Given the description of an element on the screen output the (x, y) to click on. 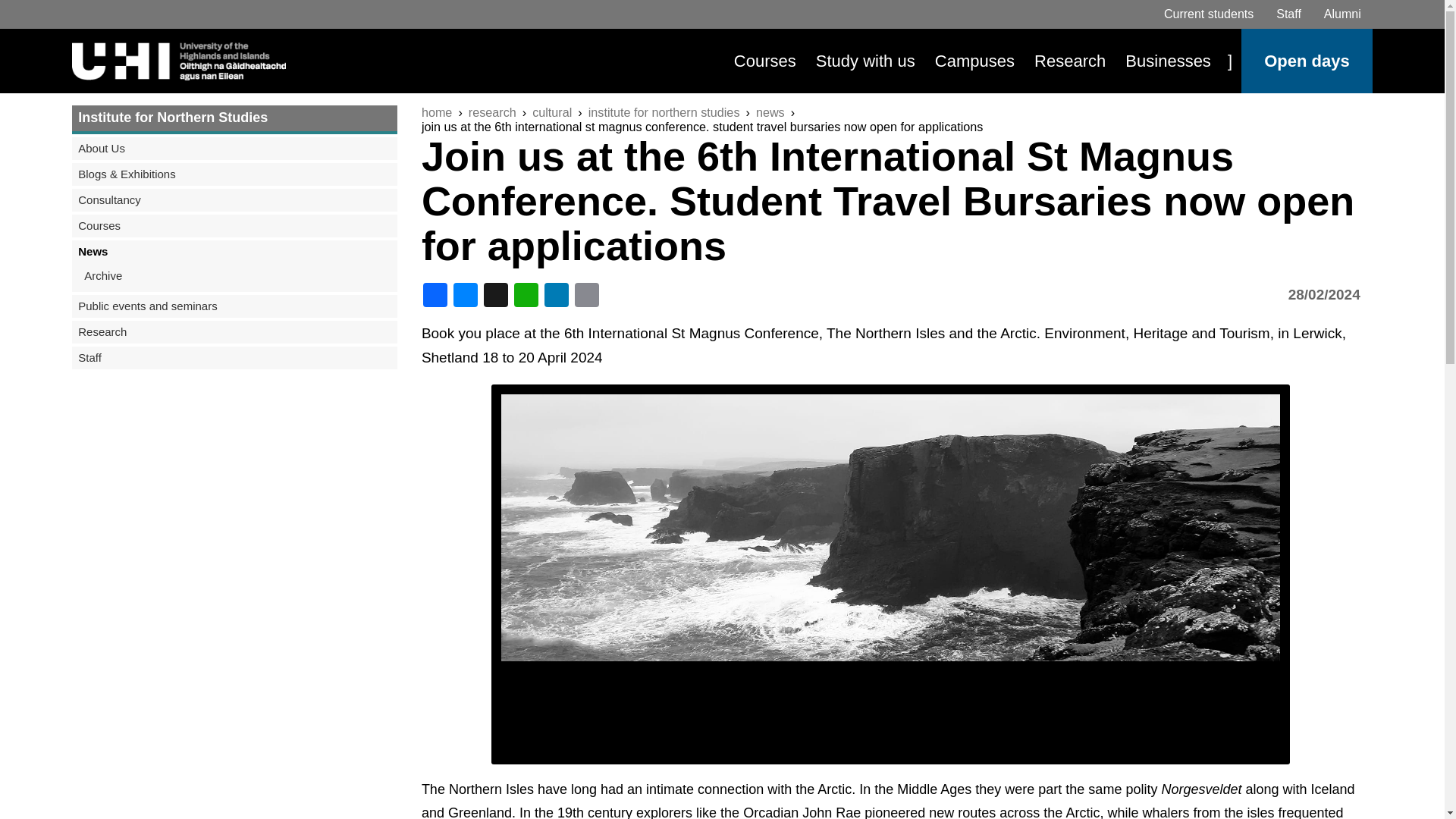
Share via WhatsApp (527, 294)
Facebook Messenger (466, 294)
Campuses (974, 60)
Staff (1288, 13)
Share via X (496, 294)
Share via Facebook Messenger (466, 294)
Research (1069, 60)
Open days (1306, 60)
Share via email (588, 294)
X (496, 294)
Study with us (865, 60)
Facebook (436, 294)
cultural (552, 111)
WhatsApp (527, 294)
